Given the description of an element on the screen output the (x, y) to click on. 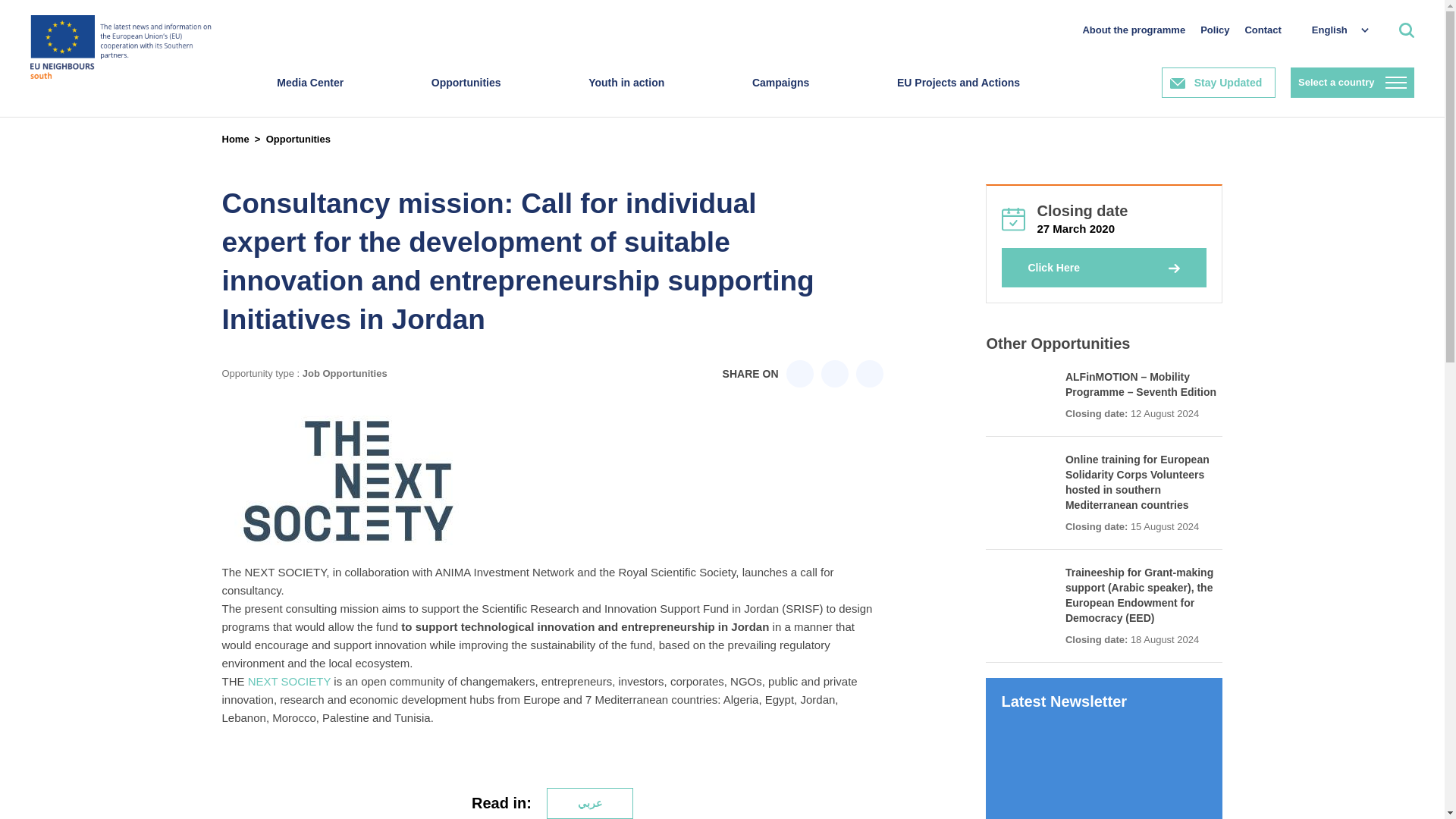
Media Center (309, 97)
About the programme (1133, 30)
English (1332, 29)
Policy (1213, 30)
Contact (1262, 30)
